Given the description of an element on the screen output the (x, y) to click on. 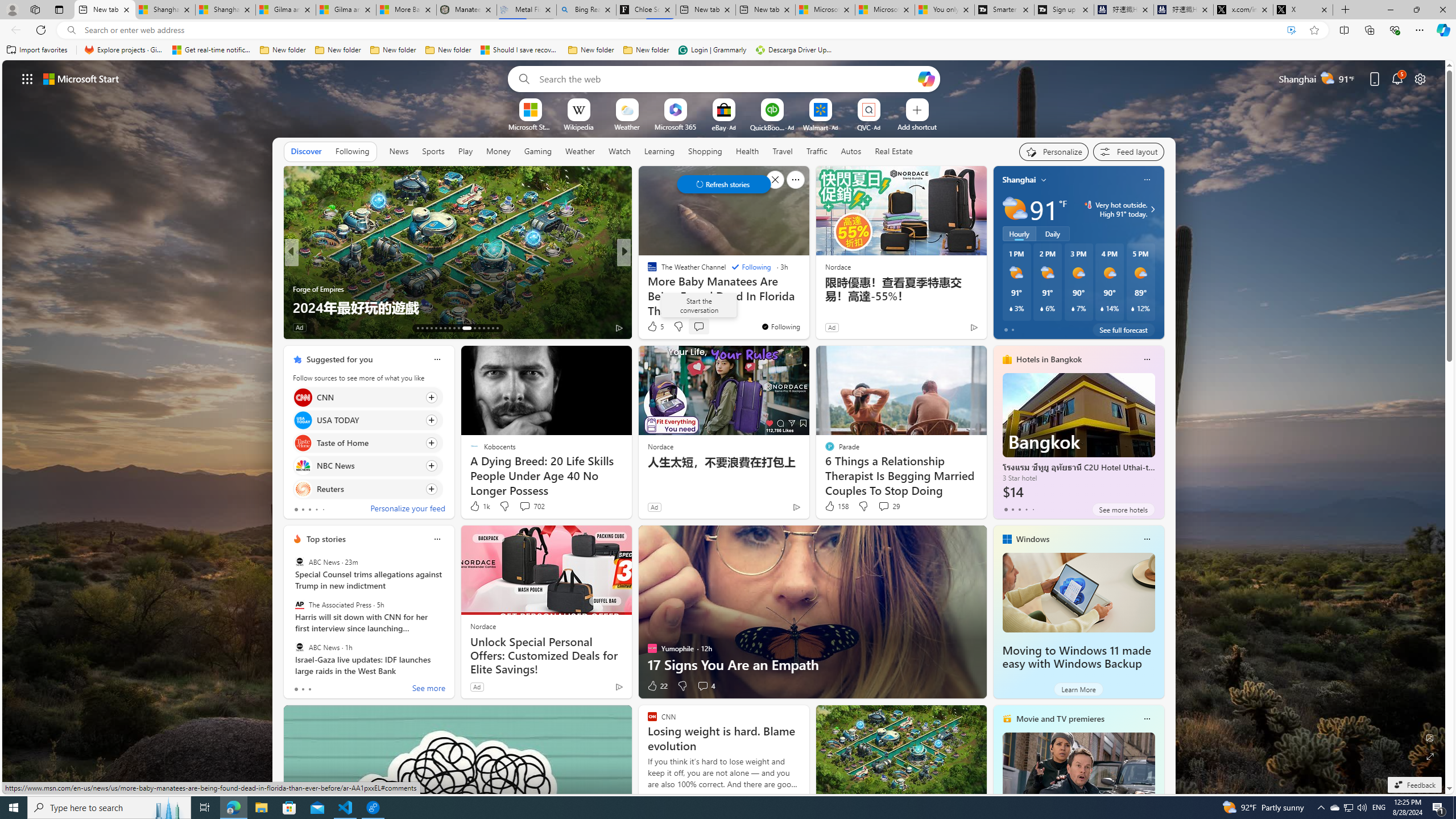
App launcher (27, 78)
Real Estate (893, 151)
Play (465, 151)
1k Like (478, 505)
AutomationID: tab-39 (483, 328)
Click to follow source USA TODAY (367, 419)
View comments 1 Comment (702, 327)
